Given the description of an element on the screen output the (x, y) to click on. 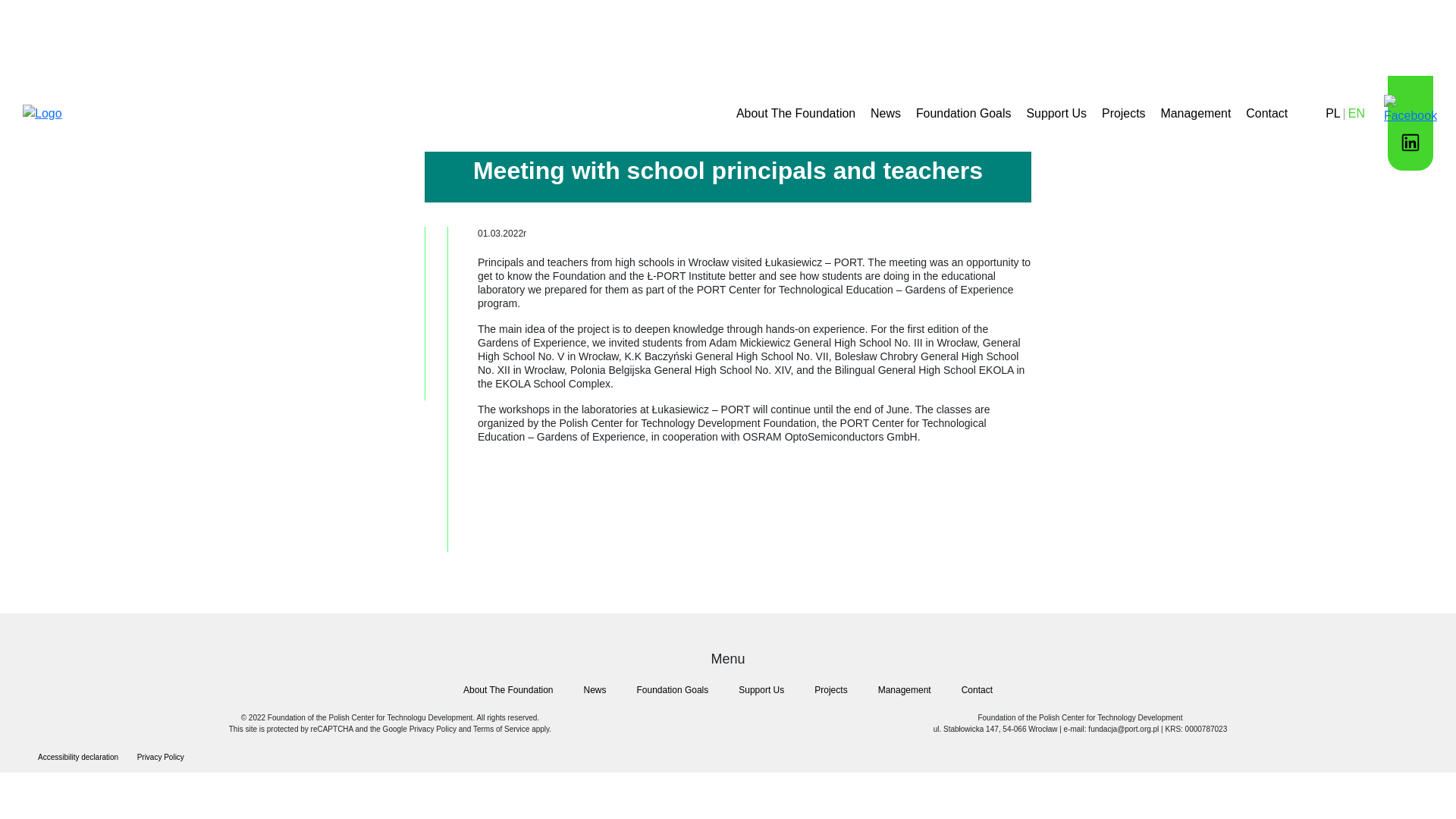
Projects (1123, 113)
EN (1356, 113)
About The Foundation (796, 113)
Contact (1266, 113)
Support Us (761, 689)
Support Us (1056, 113)
Privacy Policy (160, 756)
Projects (830, 689)
Management (1195, 113)
News (885, 113)
